Given the description of an element on the screen output the (x, y) to click on. 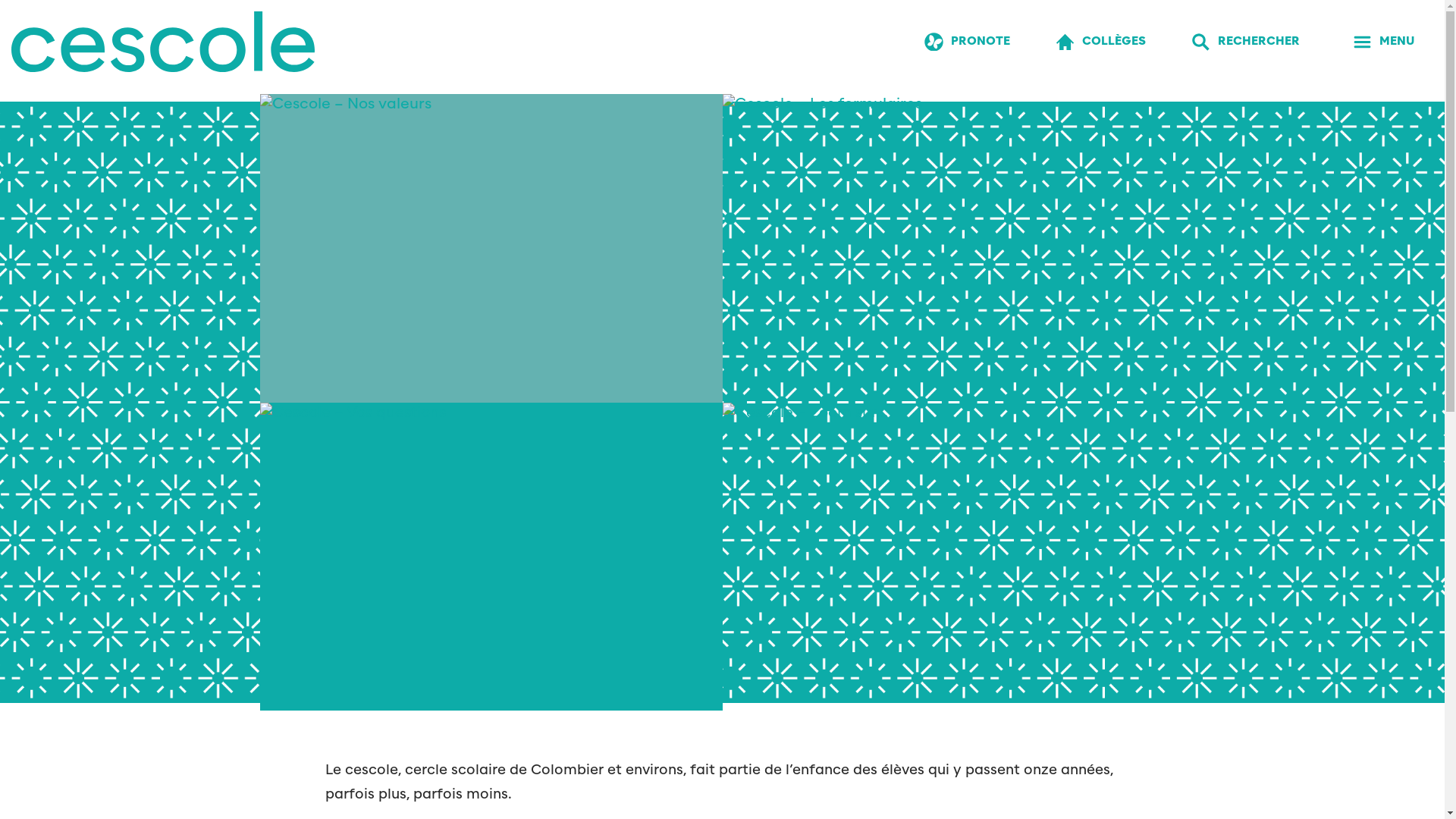
MENU Element type: text (1383, 41)
RECHERCHER Element type: text (1245, 41)
PRONOTE Element type: text (967, 41)
